Given the description of an element on the screen output the (x, y) to click on. 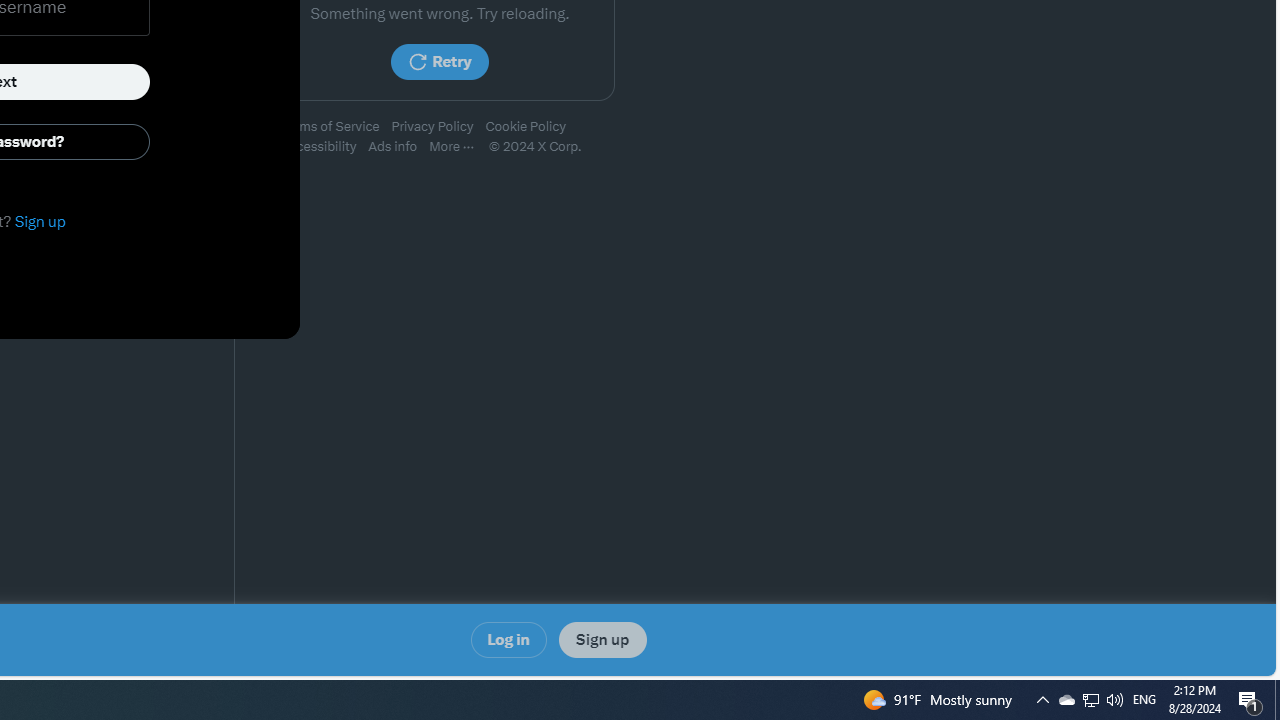
Sign up (602, 640)
Log in (507, 640)
